Given the description of an element on the screen output the (x, y) to click on. 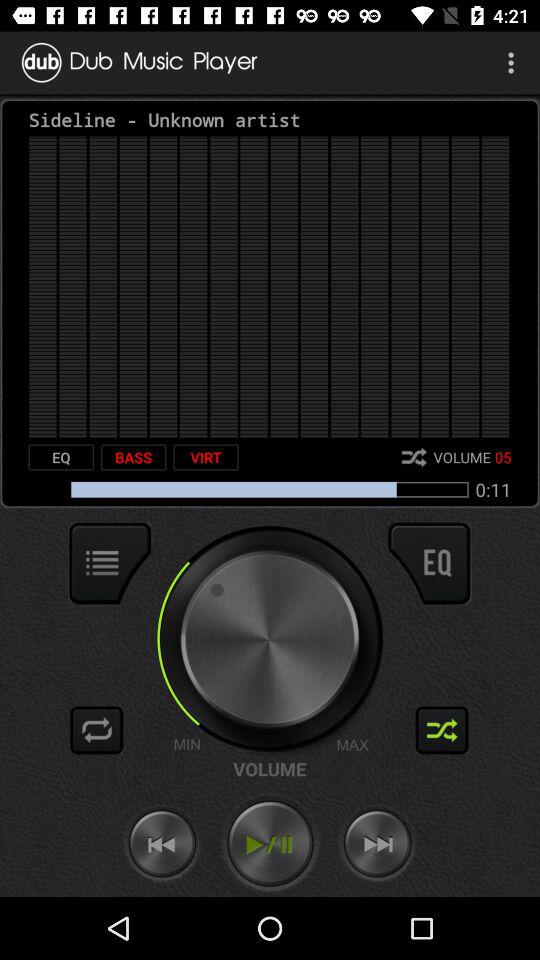
launch item to the right of the   eq (133, 457)
